Given the description of an element on the screen output the (x, y) to click on. 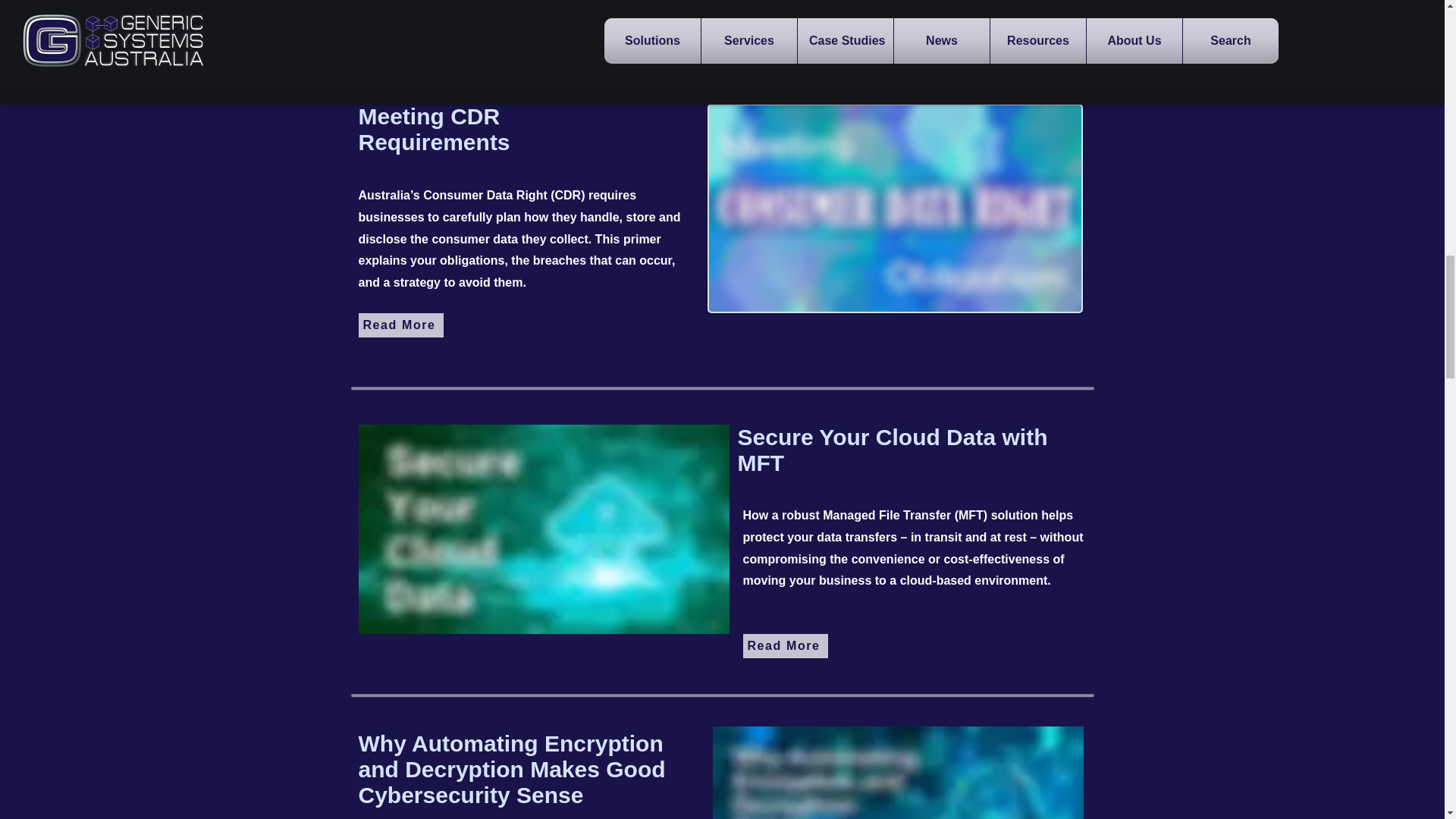
Read More (785, 645)
Read More (400, 324)
